Given the description of an element on the screen output the (x, y) to click on. 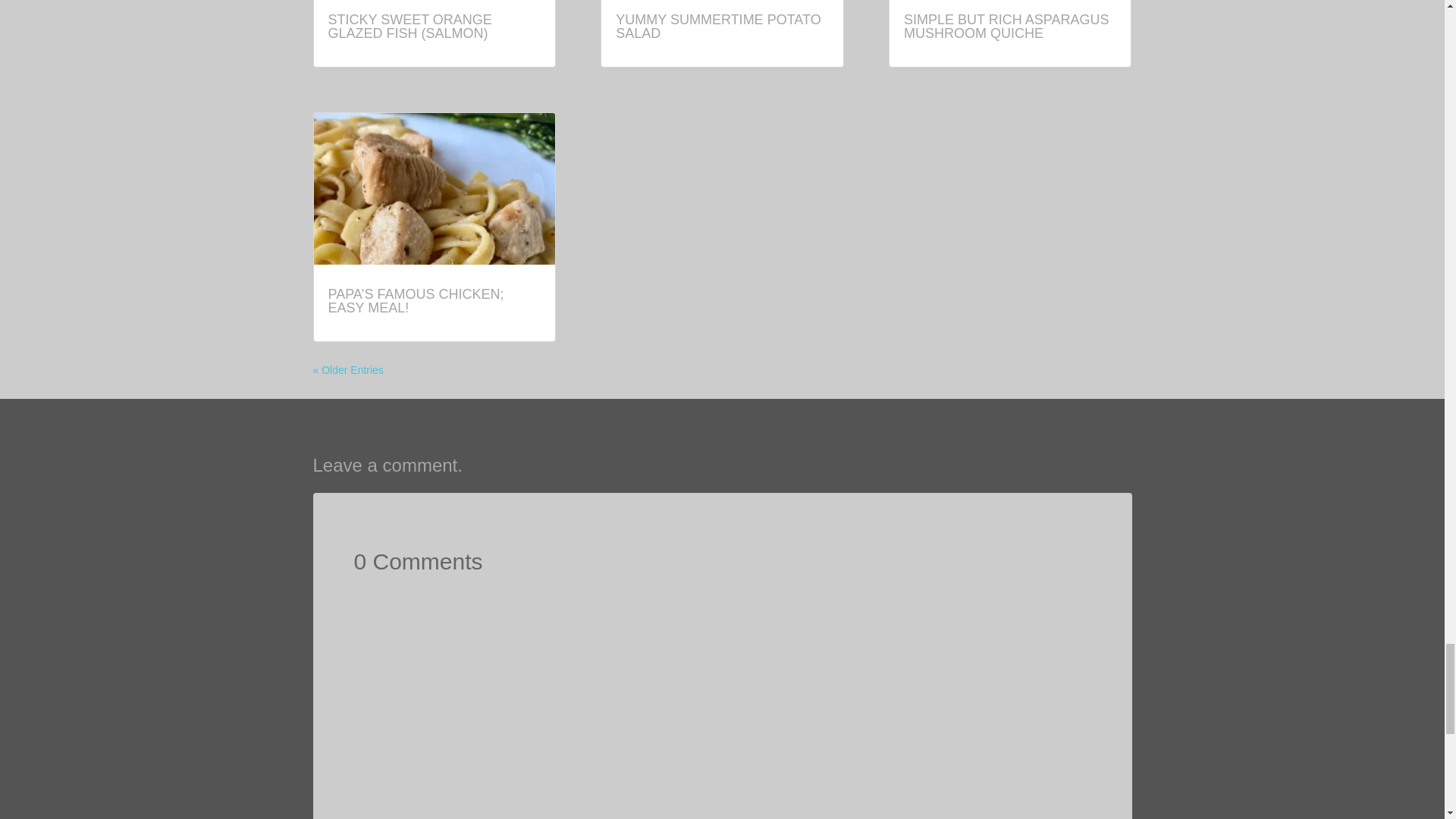
SIMPLE BUT RICH ASPARAGUS MUSHROOM QUICHE (1006, 26)
YUMMY SUMMERTIME POTATO SALAD (718, 26)
